Given the description of an element on the screen output the (x, y) to click on. 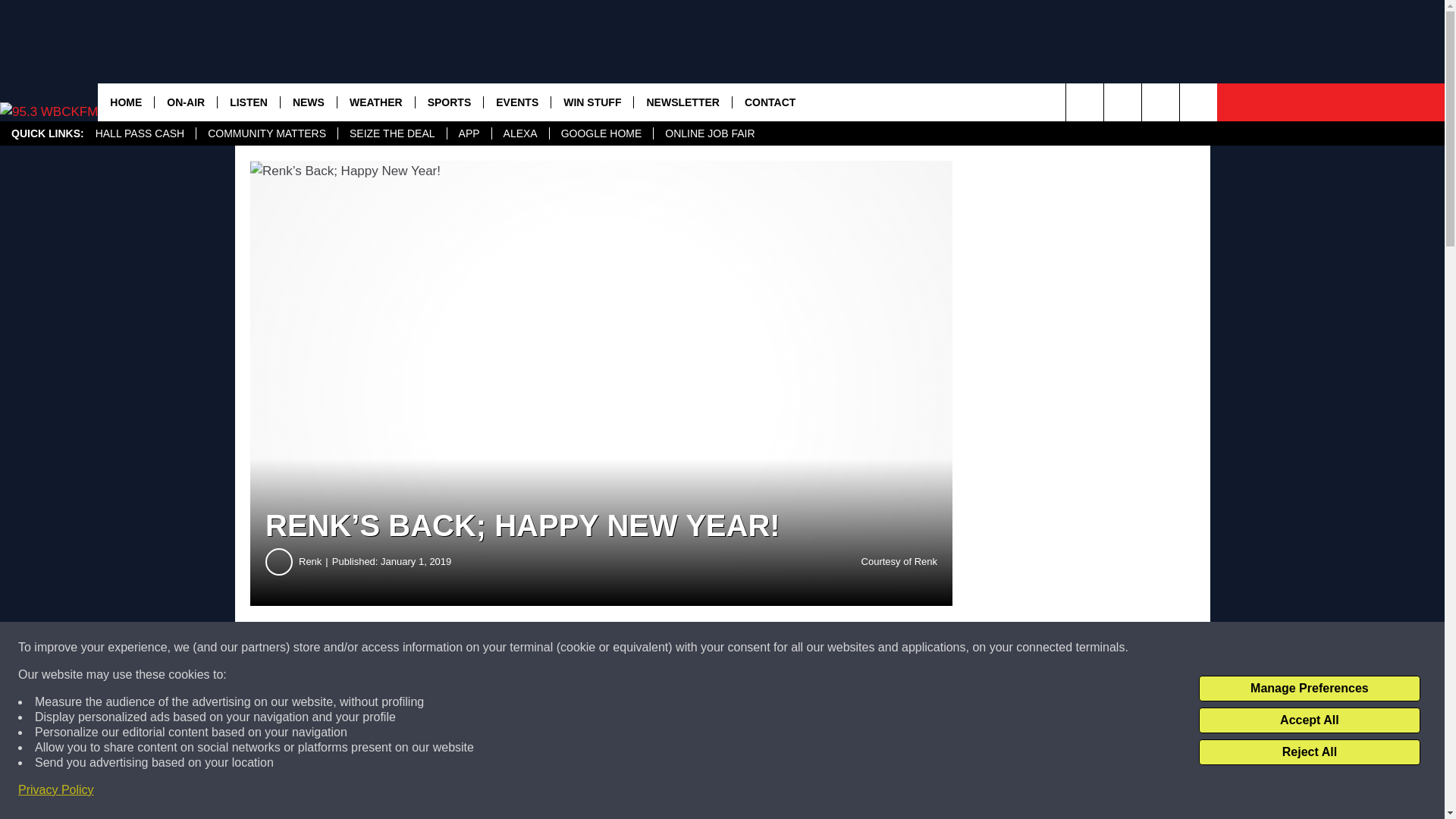
Accept All (1309, 720)
SEIZE THE DEAL (391, 133)
HOME (125, 102)
Share on Facebook (460, 647)
Reject All (1309, 751)
WEATHER (375, 102)
Manage Preferences (1309, 688)
Share on Twitter (741, 647)
ONLINE JOB FAIR (708, 133)
APP (469, 133)
HALL PASS CASH (140, 133)
Privacy Policy (55, 789)
ON-AIR (185, 102)
ALEXA (520, 133)
NEWS (307, 102)
